Given the description of an element on the screen output the (x, y) to click on. 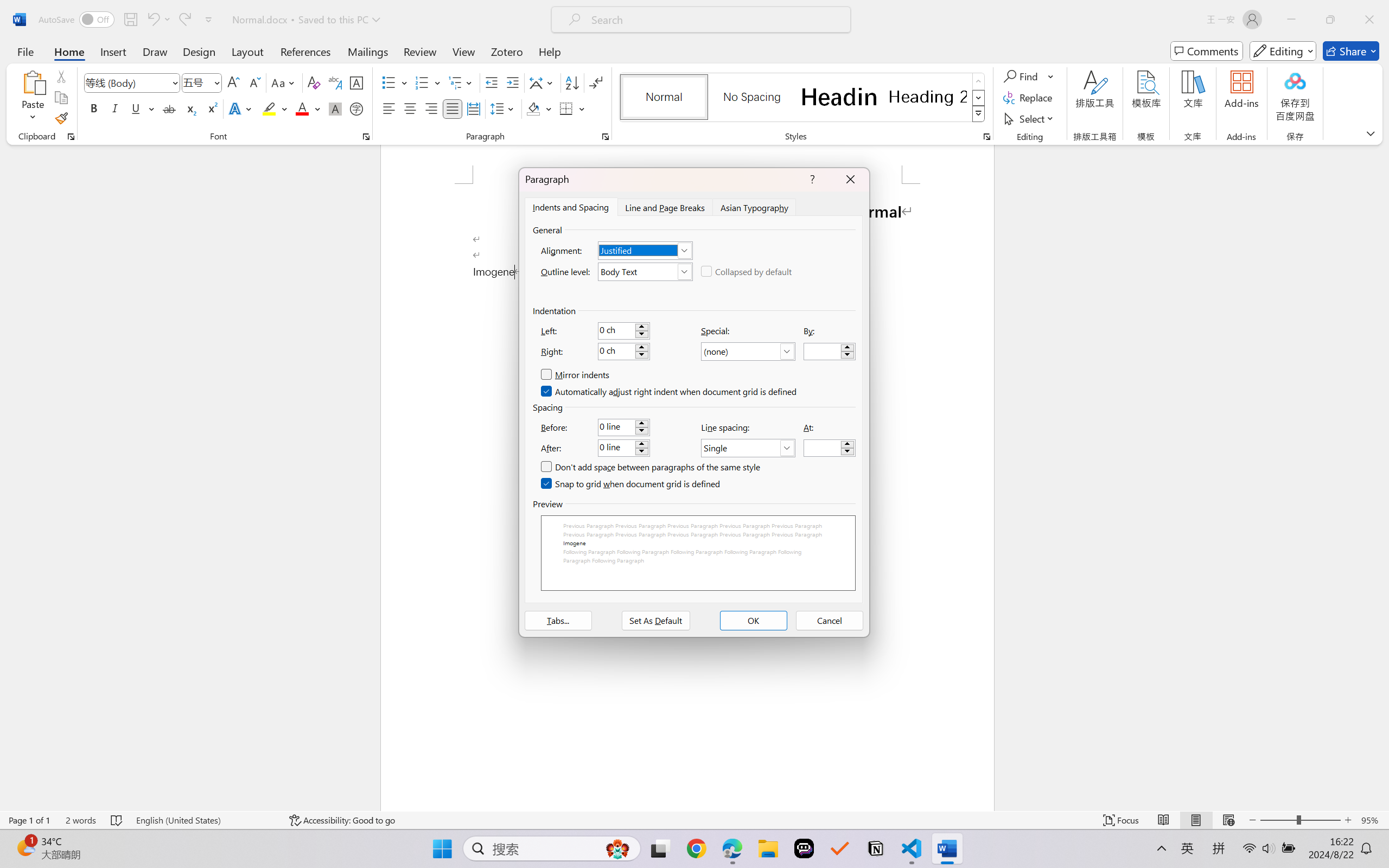
Page Number Page 1 of 1 (29, 819)
Undo Typing (152, 19)
